Given the description of an element on the screen output the (x, y) to click on. 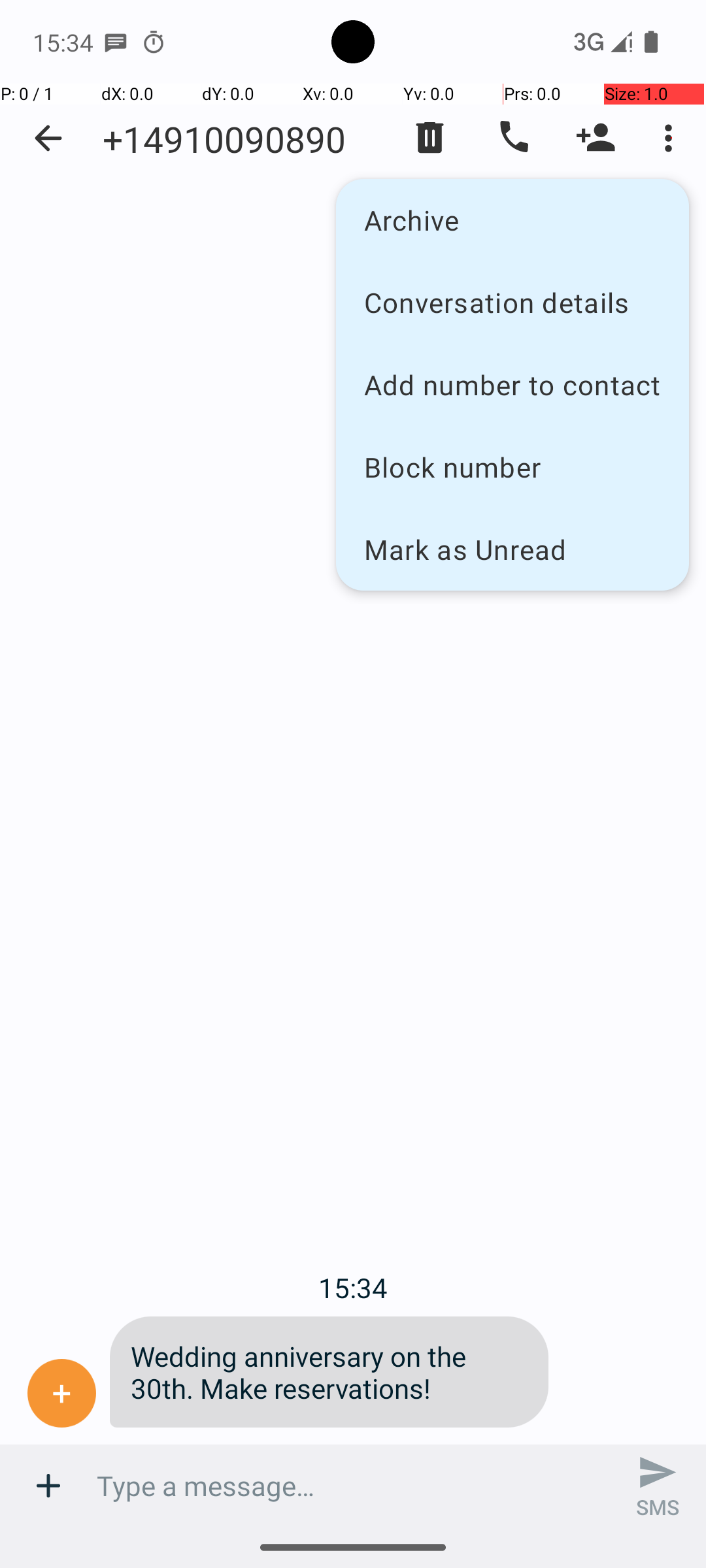
Conversation details Element type: android.widget.TextView (512, 301)
Add number to contact Element type: android.widget.TextView (512, 384)
Block number Element type: android.widget.TextView (512, 466)
Mark as Unread Element type: android.widget.TextView (512, 548)
